Given the description of an element on the screen output the (x, y) to click on. 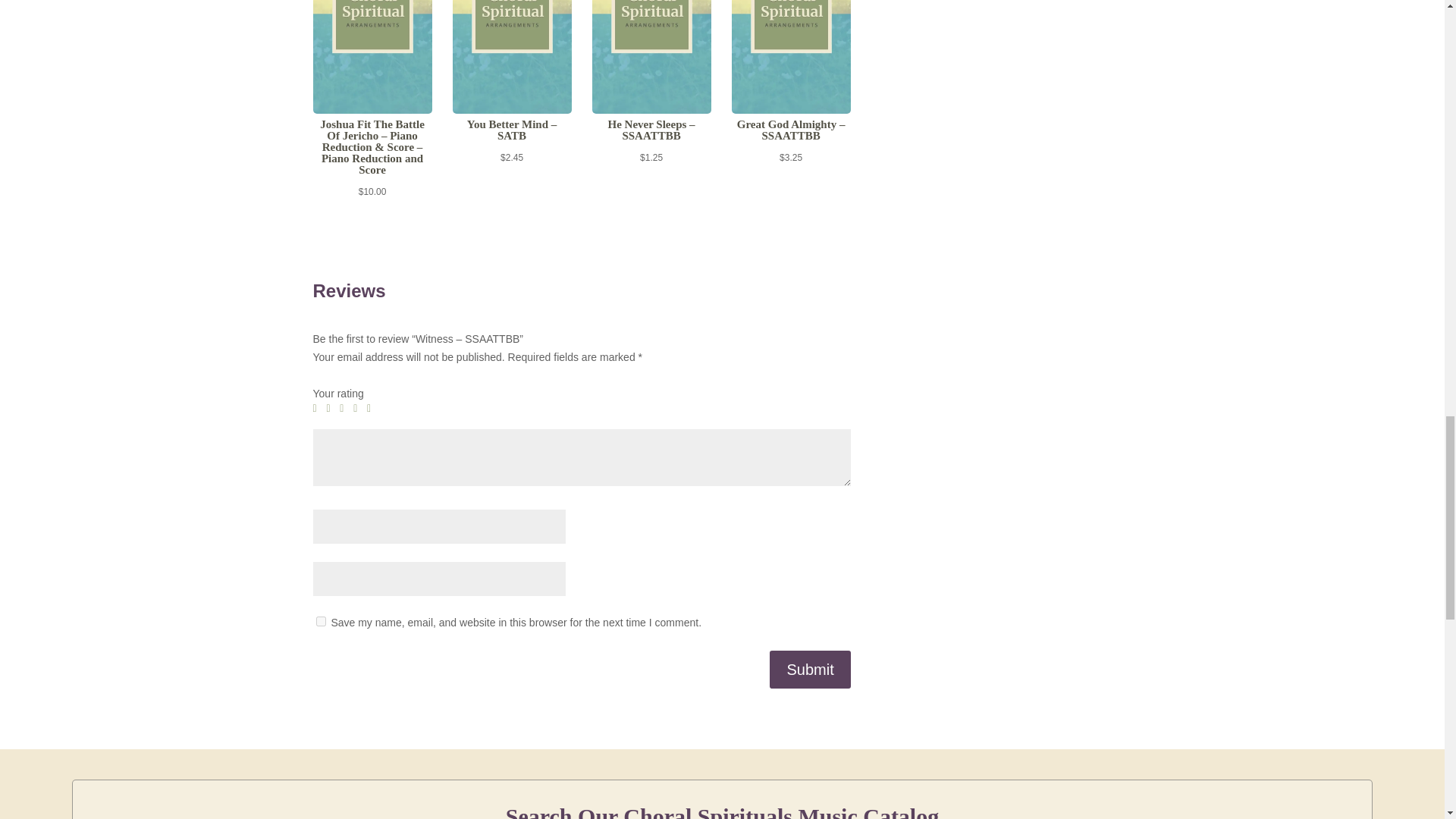
yes (319, 621)
2 (331, 408)
1 (318, 408)
